Given the description of an element on the screen output the (x, y) to click on. 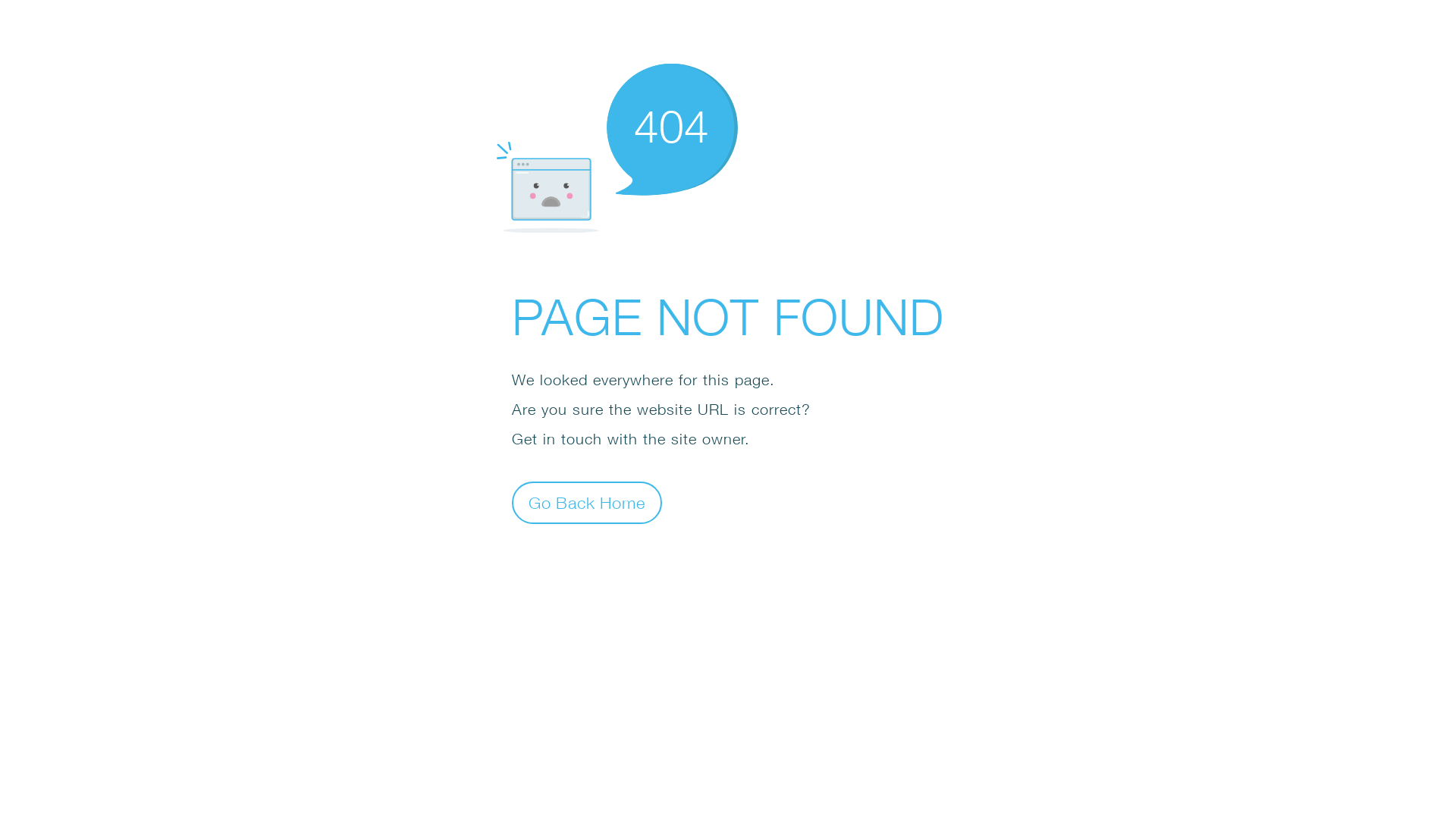
Go Back Home Element type: text (586, 502)
